Given the description of an element on the screen output the (x, y) to click on. 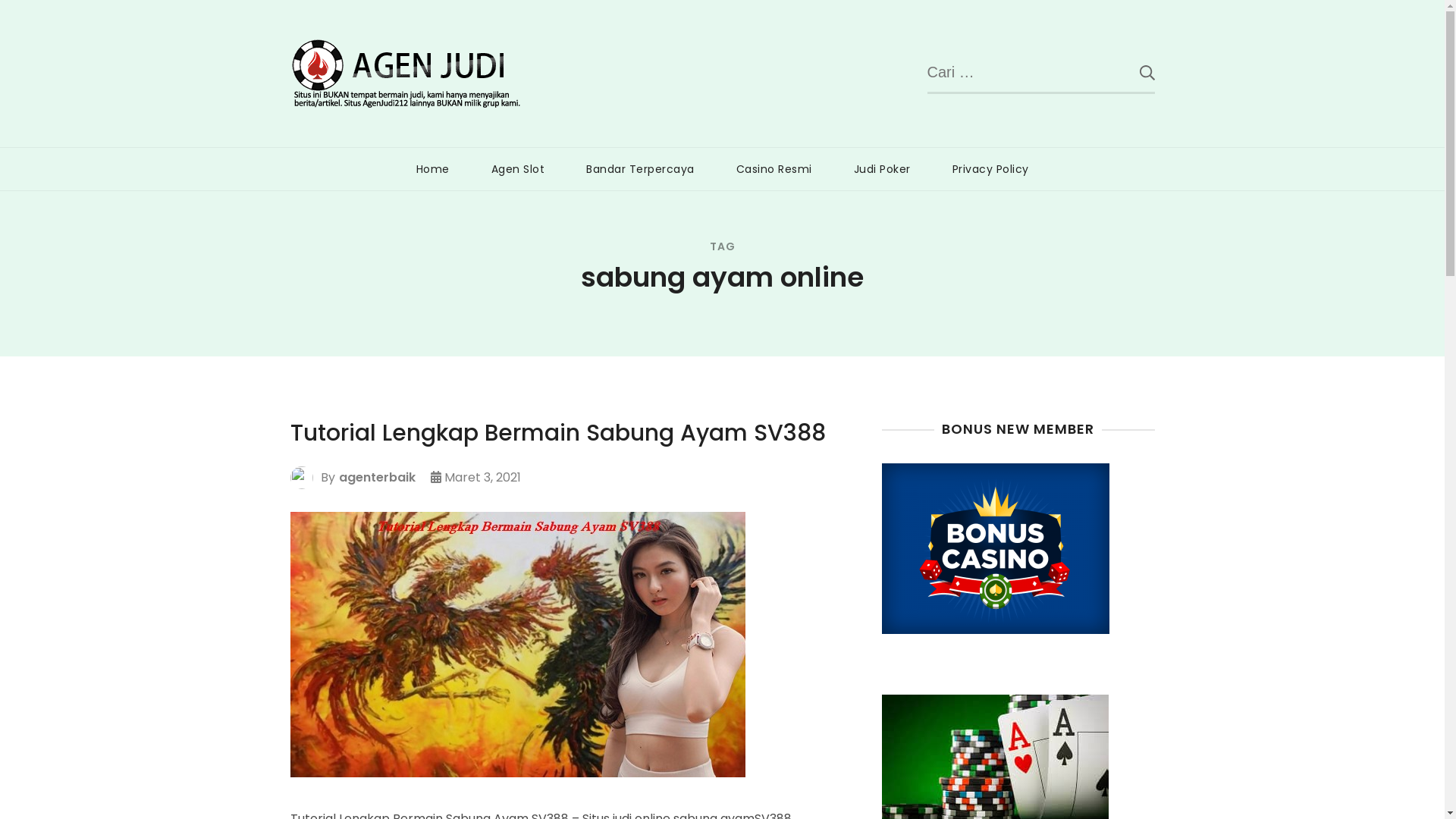
Privacy Policy Element type: text (989, 168)
Agen Slot Element type: text (517, 168)
Tutorial Lengkap Bermain Sabung Ayam SV388 Element type: text (557, 432)
Cari Element type: text (1135, 72)
agenterbaik Element type: text (376, 477)
Maret 3, 2021 Element type: text (482, 477)
Casino Resmi Element type: text (774, 168)
Judi Poker Element type: text (881, 168)
Bandar Terpercaya Element type: text (640, 168)
Home Element type: text (432, 168)
